Given the description of an element on the screen output the (x, y) to click on. 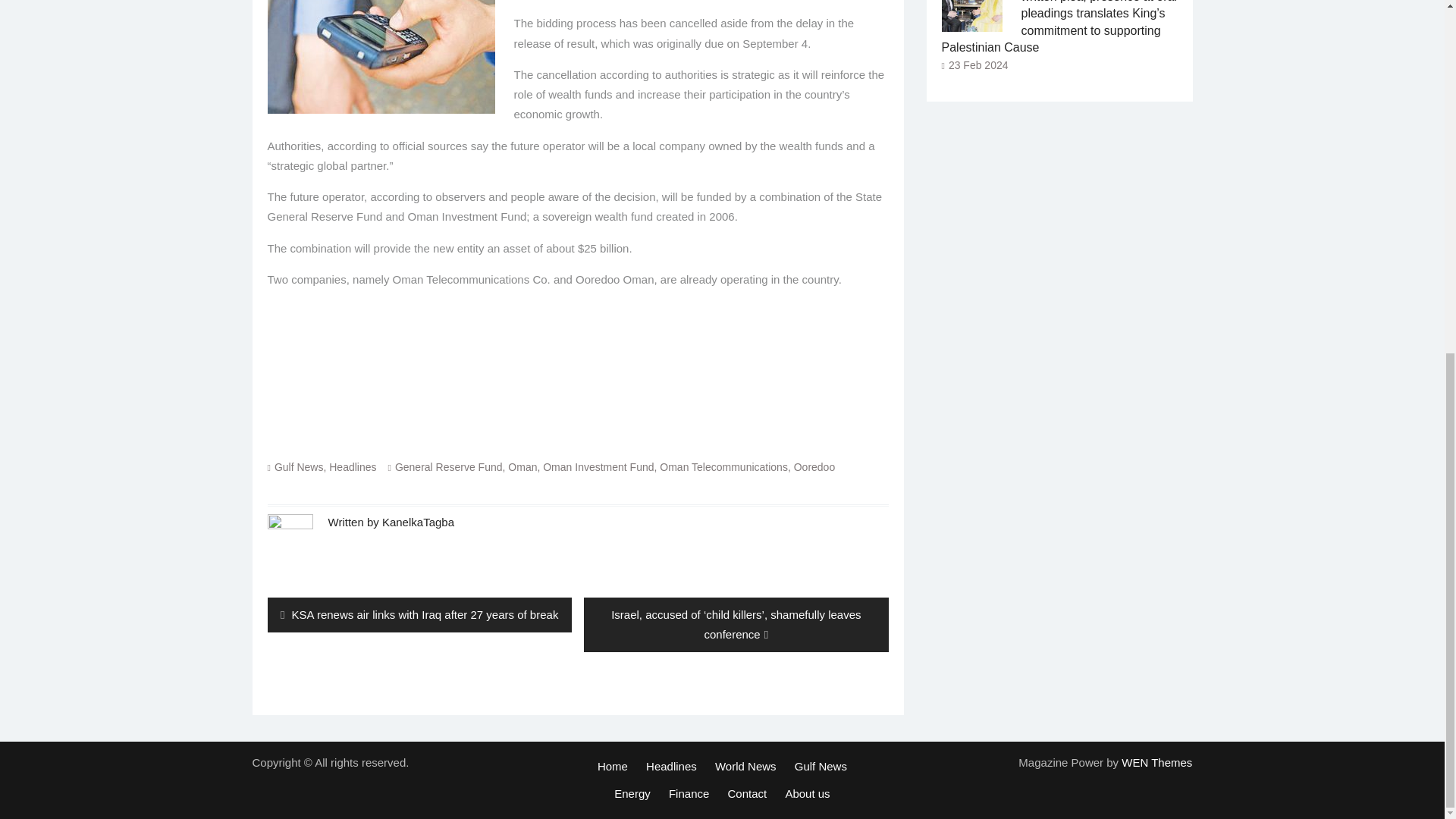
Oman Telecommunications (723, 467)
Oman Investment Fund (598, 467)
Ooredoo (813, 467)
Gulf News (299, 467)
KanelkaTagba (417, 521)
General Reserve Fund (448, 467)
Posts by KanelkaTagba (417, 521)
Oman (522, 467)
Headlines (352, 467)
